Given the description of an element on the screen output the (x, y) to click on. 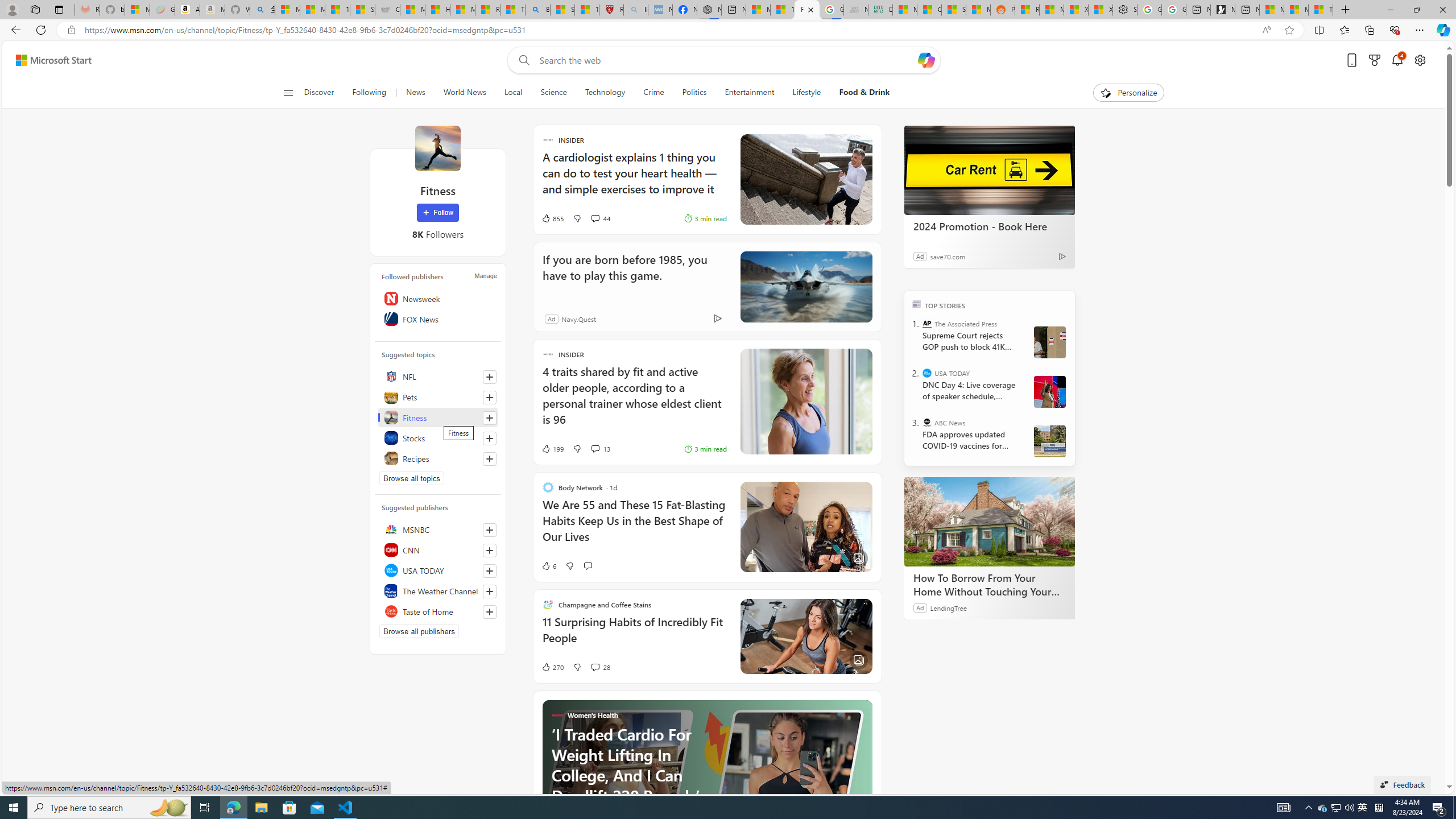
The Associated Press (927, 323)
Skip to footer (46, 59)
Start the conversation (587, 565)
World News (464, 92)
